Given the description of an element on the screen output the (x, y) to click on. 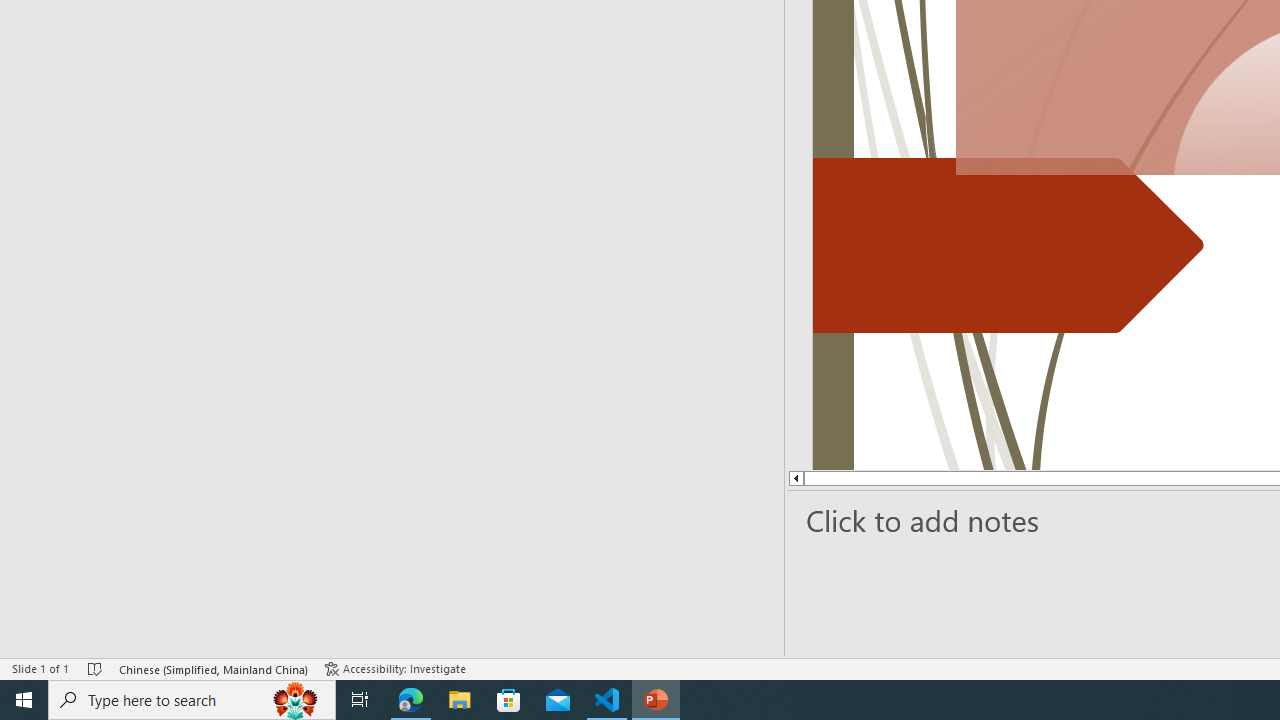
Page up (868, 478)
